Given the description of an element on the screen output the (x, y) to click on. 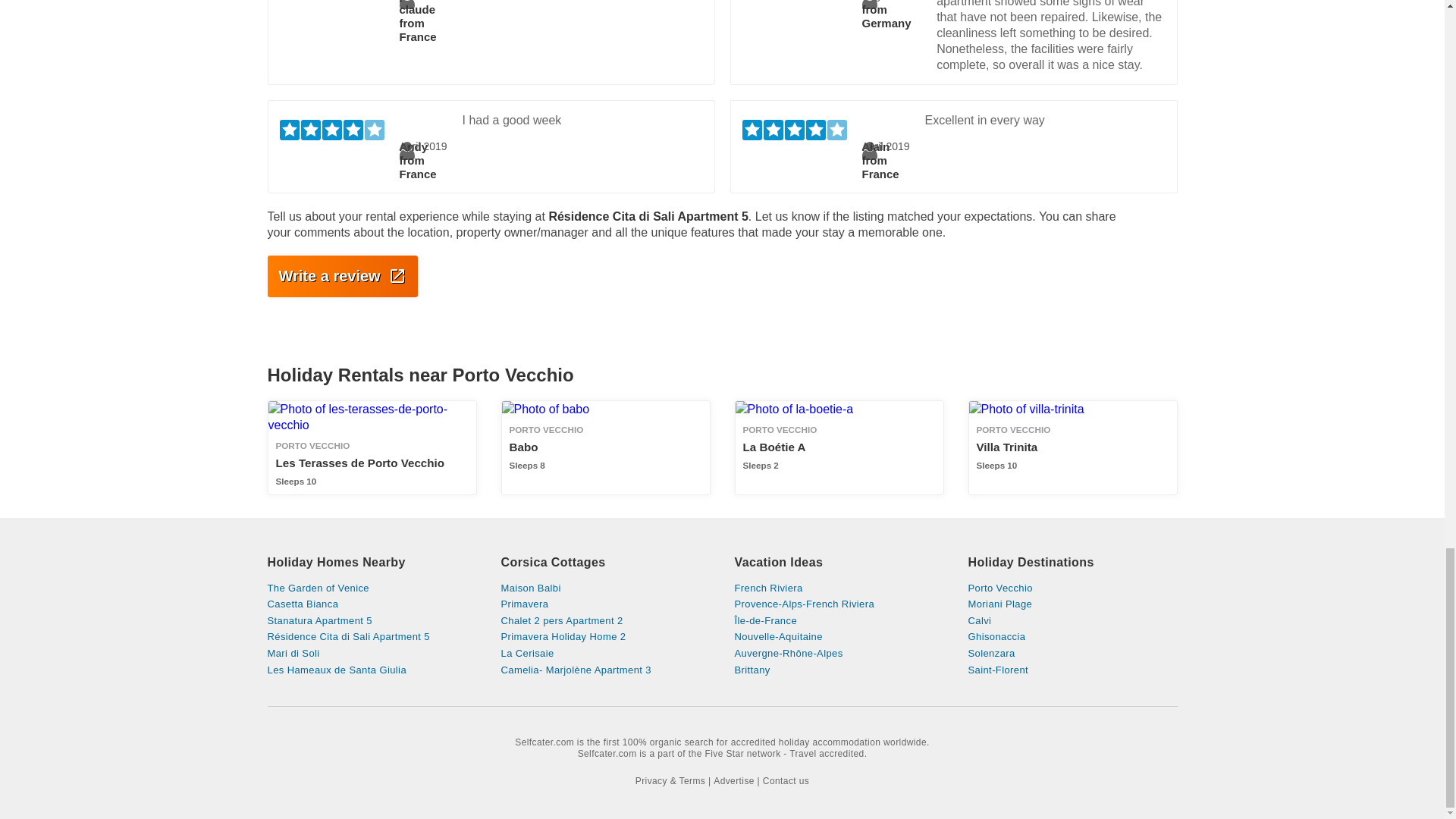
Self-catering Maison Balbi (605, 588)
Provence-Alps-French Riviera (838, 604)
Self-catering Chalet 2 pers Apartment 2 (605, 621)
French Riviera (838, 588)
Casetta Bianca (371, 604)
Self-catering Mari di Soli (371, 653)
Self-catering Les Hameaux de Santa Giulia (371, 670)
Self-catering Provence-Alps-French Riviera (1072, 447)
Primavera Holiday Home 2 (838, 604)
